Given the description of an element on the screen output the (x, y) to click on. 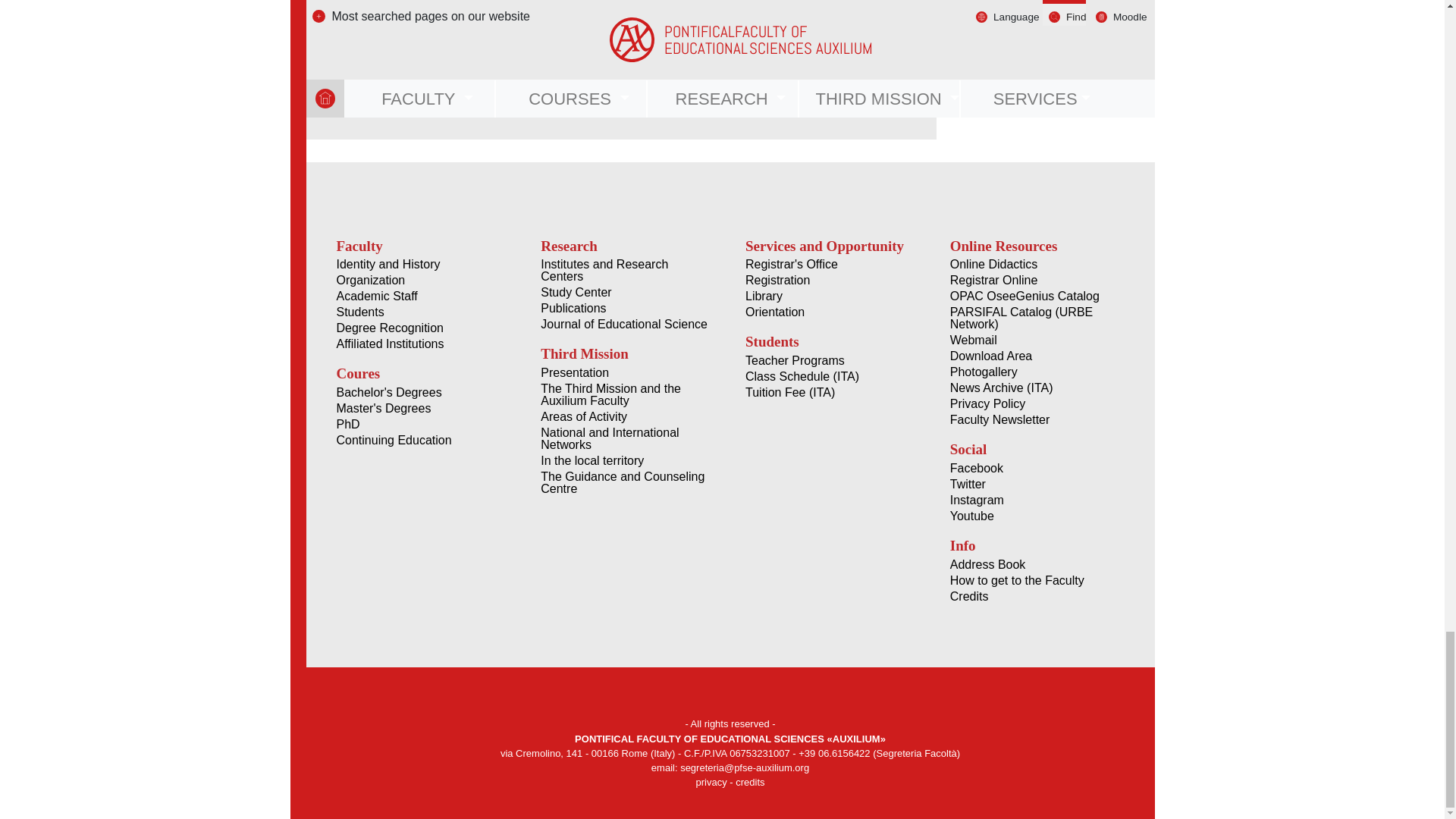
Identity and History (419, 264)
Registrar's Office (440, 83)
